Given the description of an element on the screen output the (x, y) to click on. 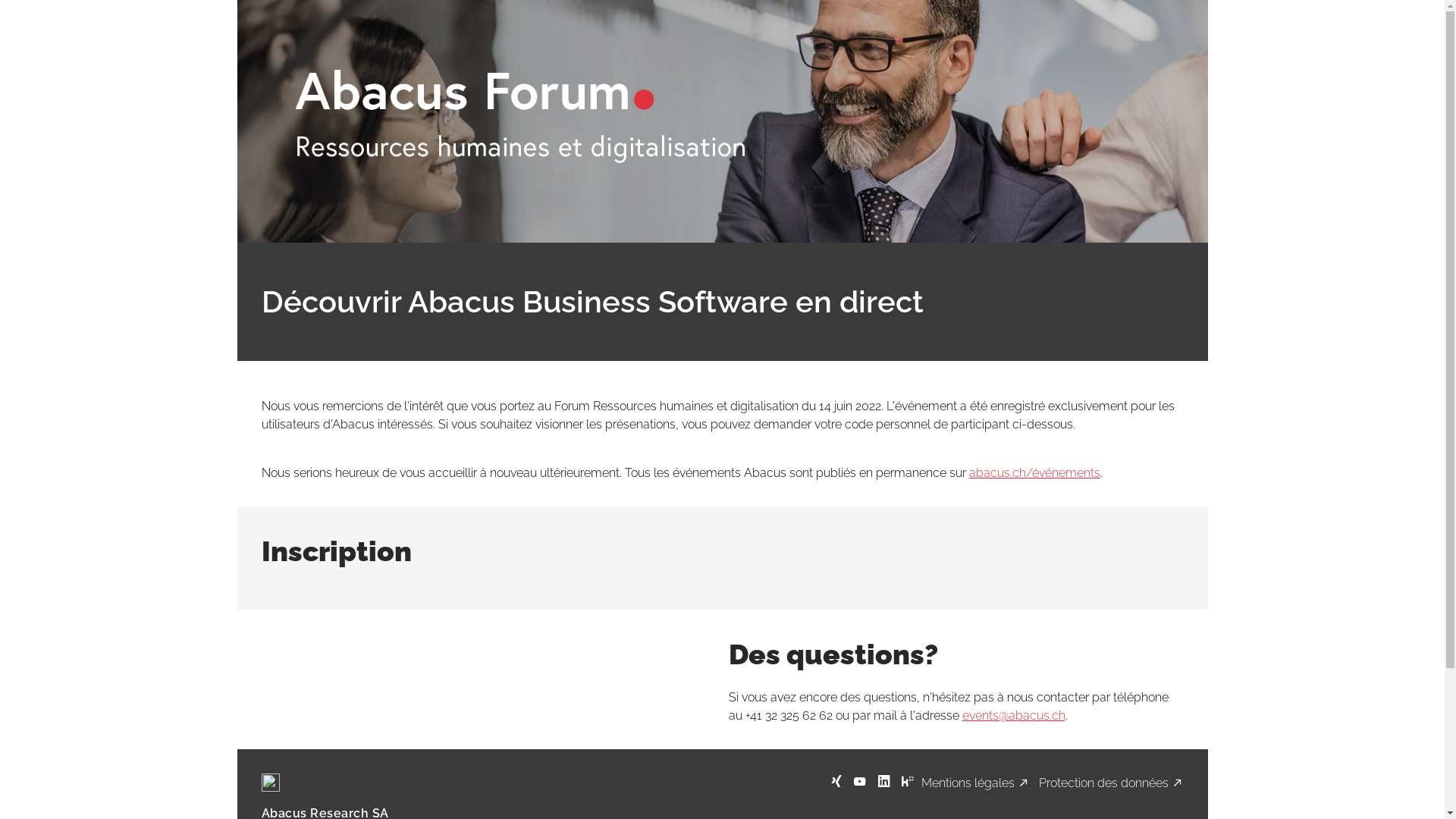
events@abacus.ch Element type: text (1012, 715)
